Given the description of an element on the screen output the (x, y) to click on. 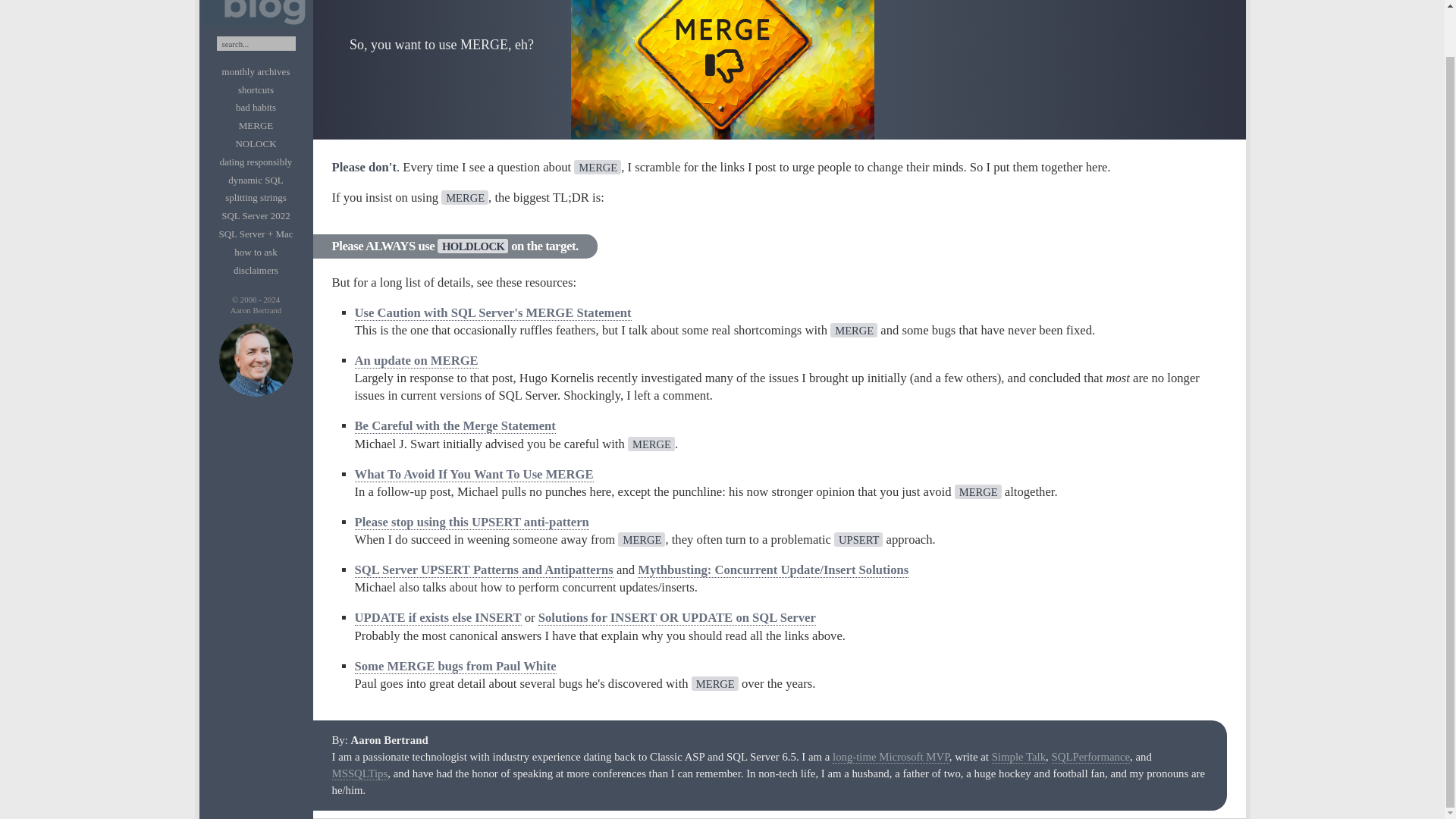
Some MERGE bugs from Paul White (455, 666)
Solutions for INSERT OR UPDATE on SQL Server (676, 617)
NOLOCK (255, 143)
An update on MERGE (417, 360)
shortcuts (255, 89)
Resources for SQL Server 2022. (255, 215)
Use Caution with SQL Server's MERGE Statement (493, 313)
bad habits (255, 107)
